Given the description of an element on the screen output the (x, y) to click on. 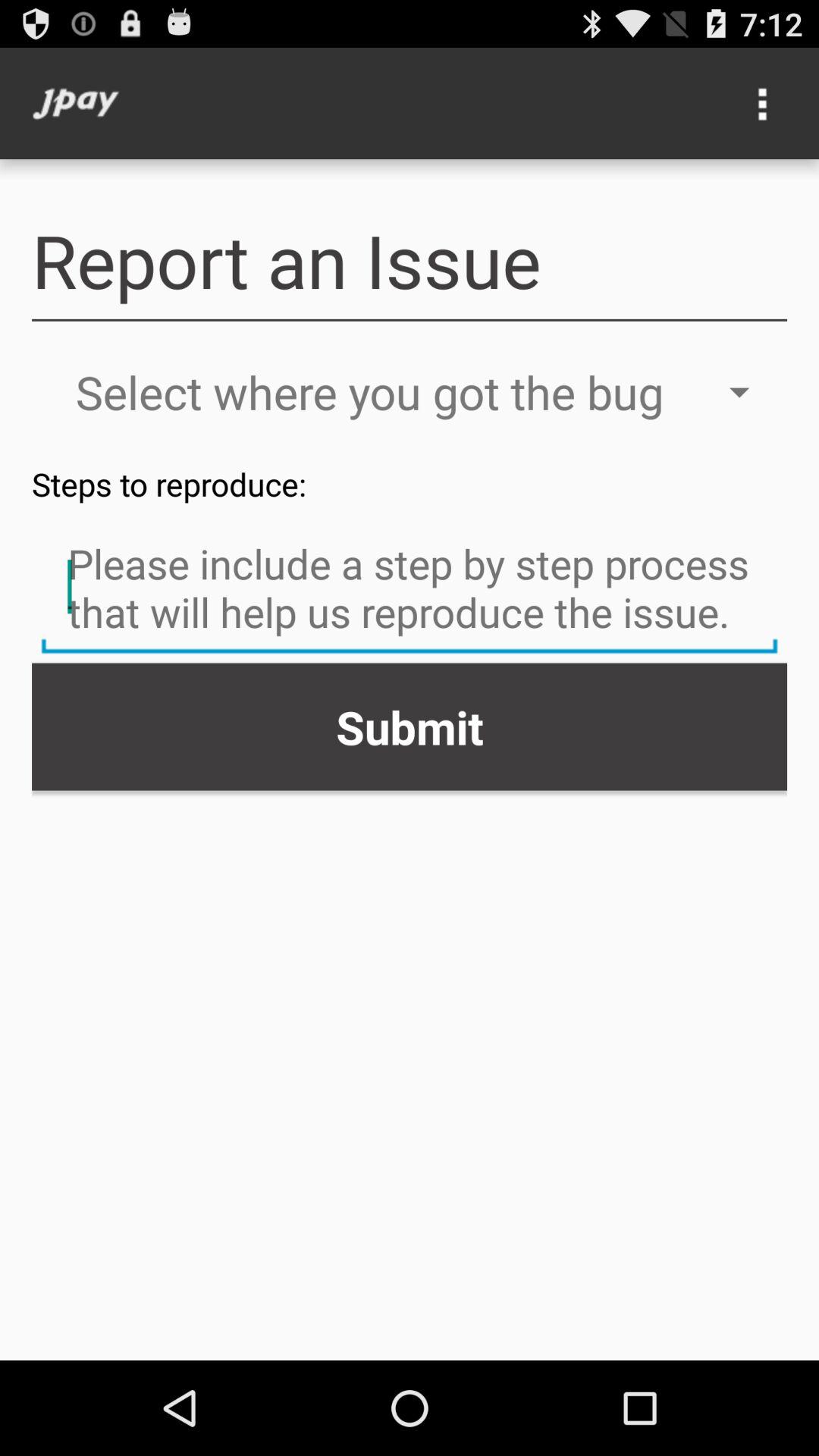
type here (409, 589)
